Given the description of an element on the screen output the (x, y) to click on. 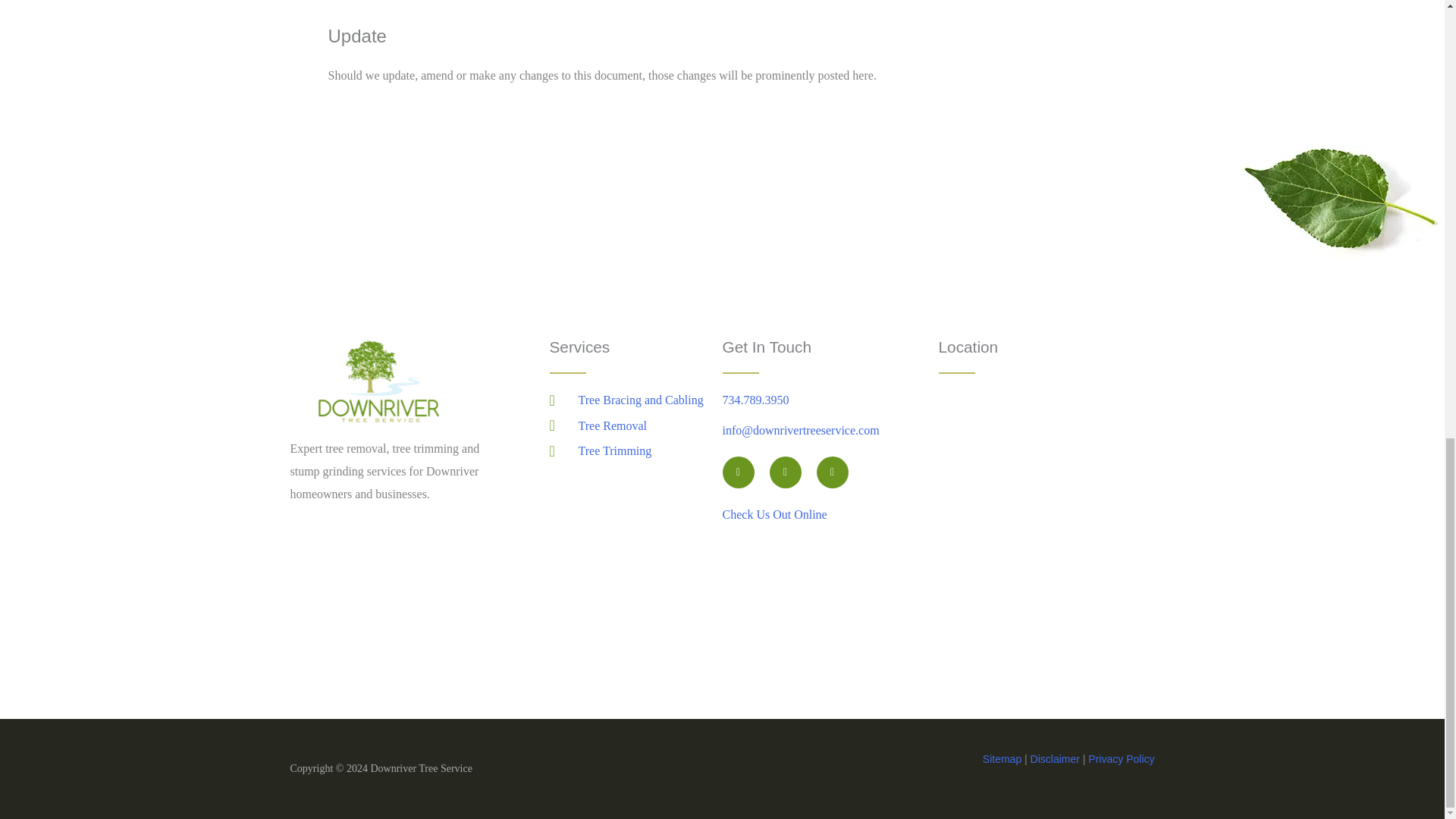
Tree Bracing and Cabling (635, 400)
Tree Trimming (635, 450)
Tree Removal (635, 425)
